Given the description of an element on the screen output the (x, y) to click on. 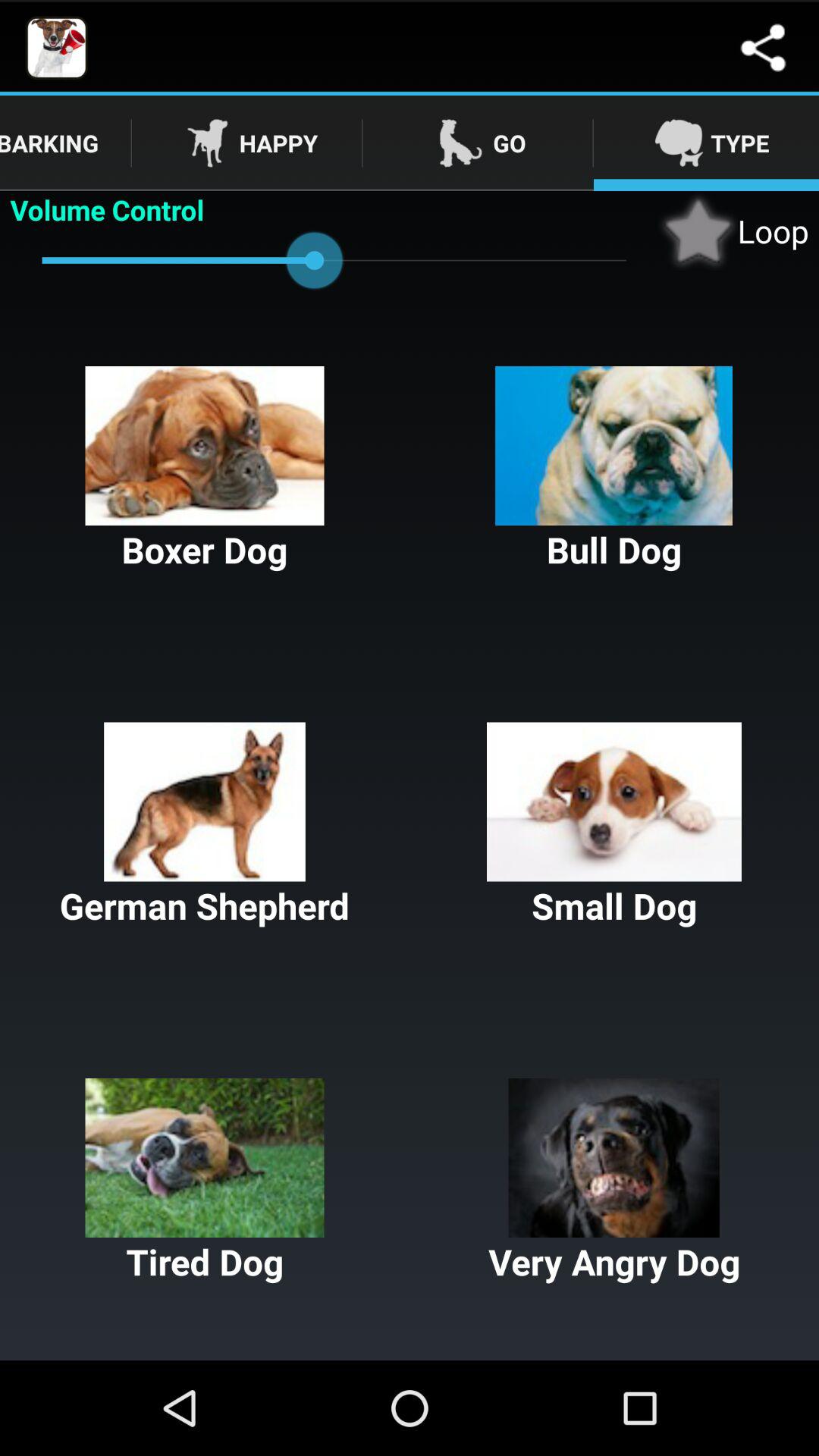
open the button below german shepherd icon (204, 1181)
